Given the description of an element on the screen output the (x, y) to click on. 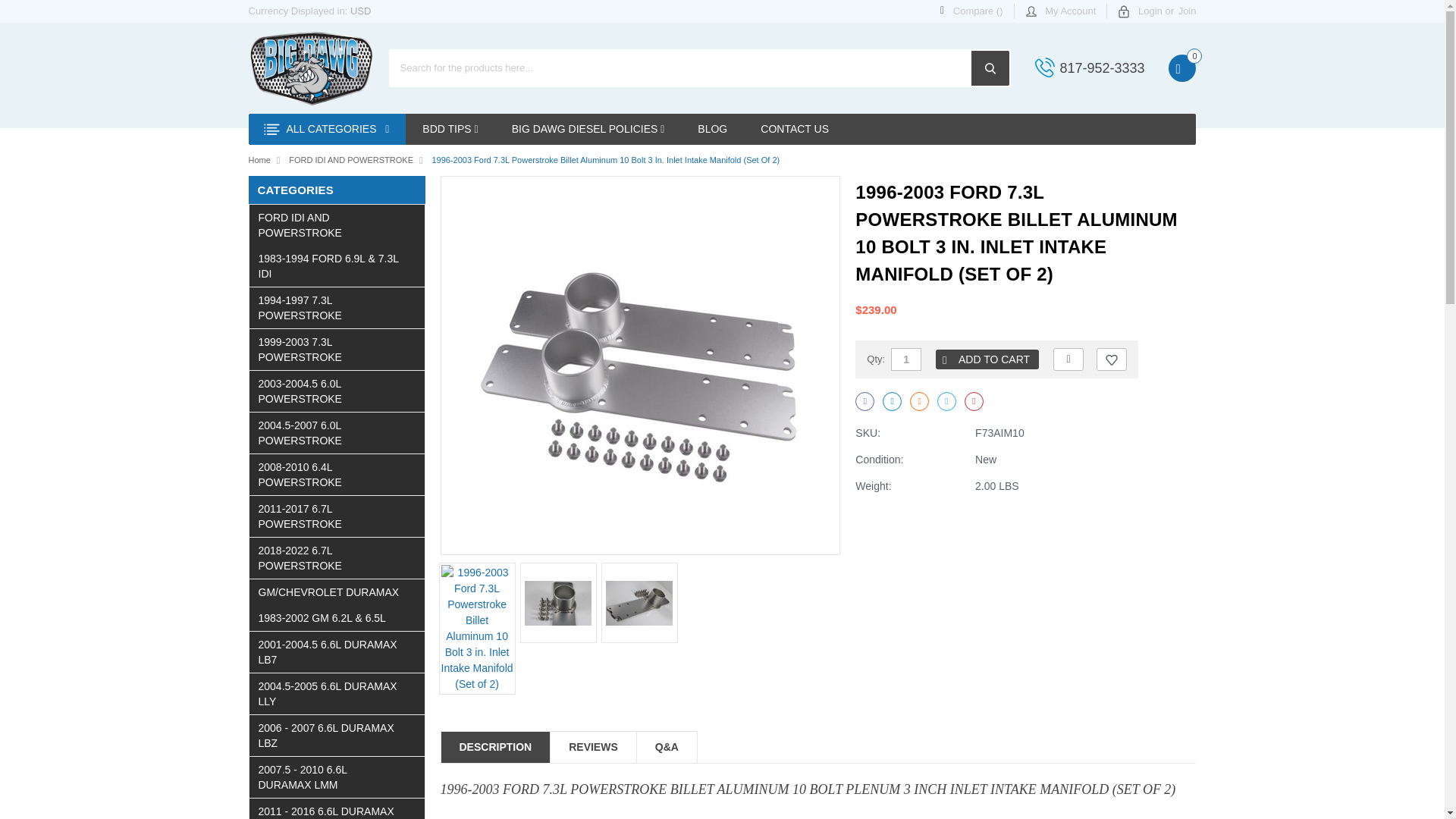
BIG DAWG DIESEL (311, 68)
Compare (1067, 359)
Add to Cart (987, 359)
1 (906, 359)
